Given the description of an element on the screen output the (x, y) to click on. 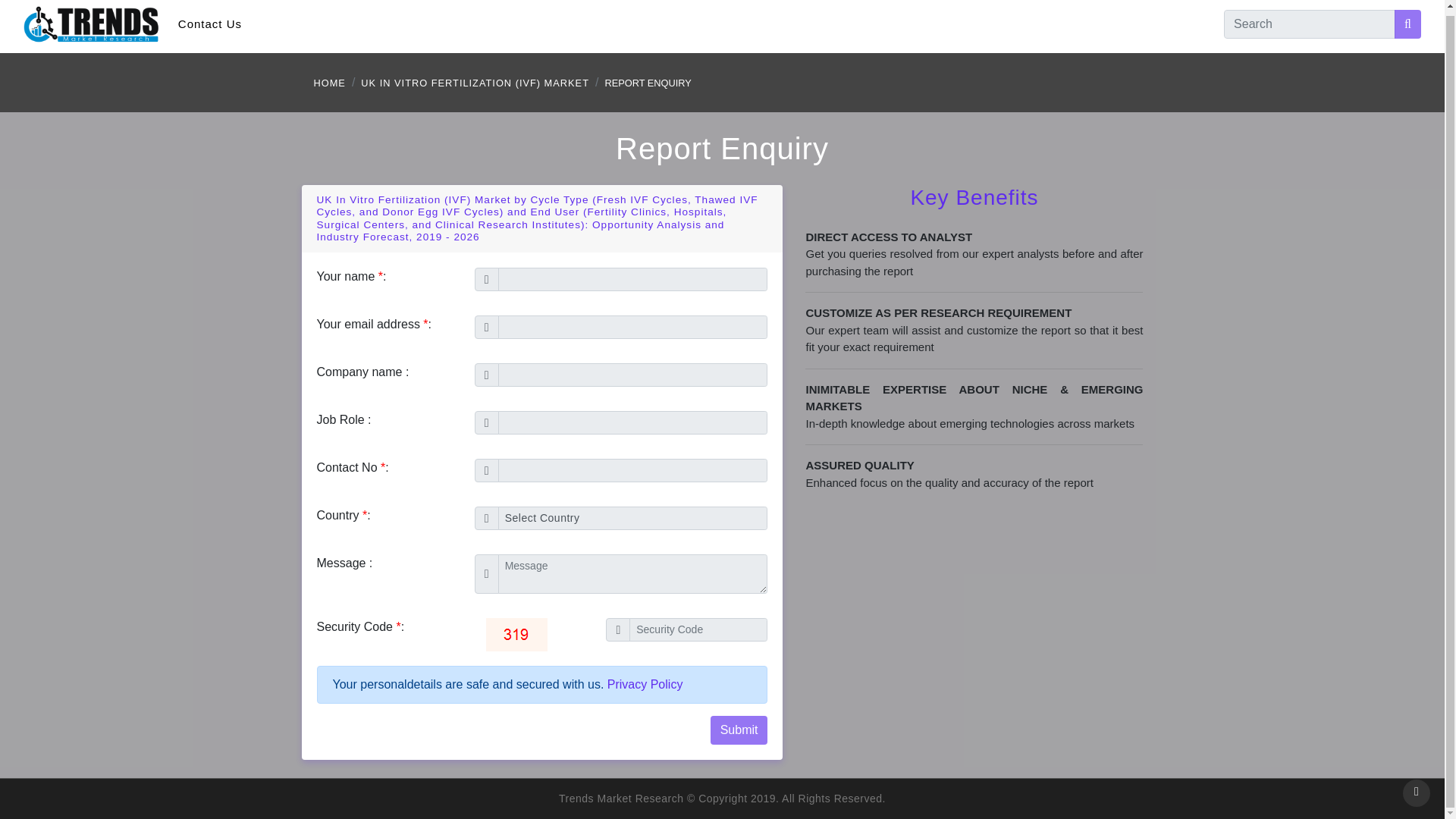
HOME (330, 82)
Captcha (516, 634)
Submit (739, 729)
Privacy Policy (644, 684)
Contact Us (209, 24)
